Given the description of an element on the screen output the (x, y) to click on. 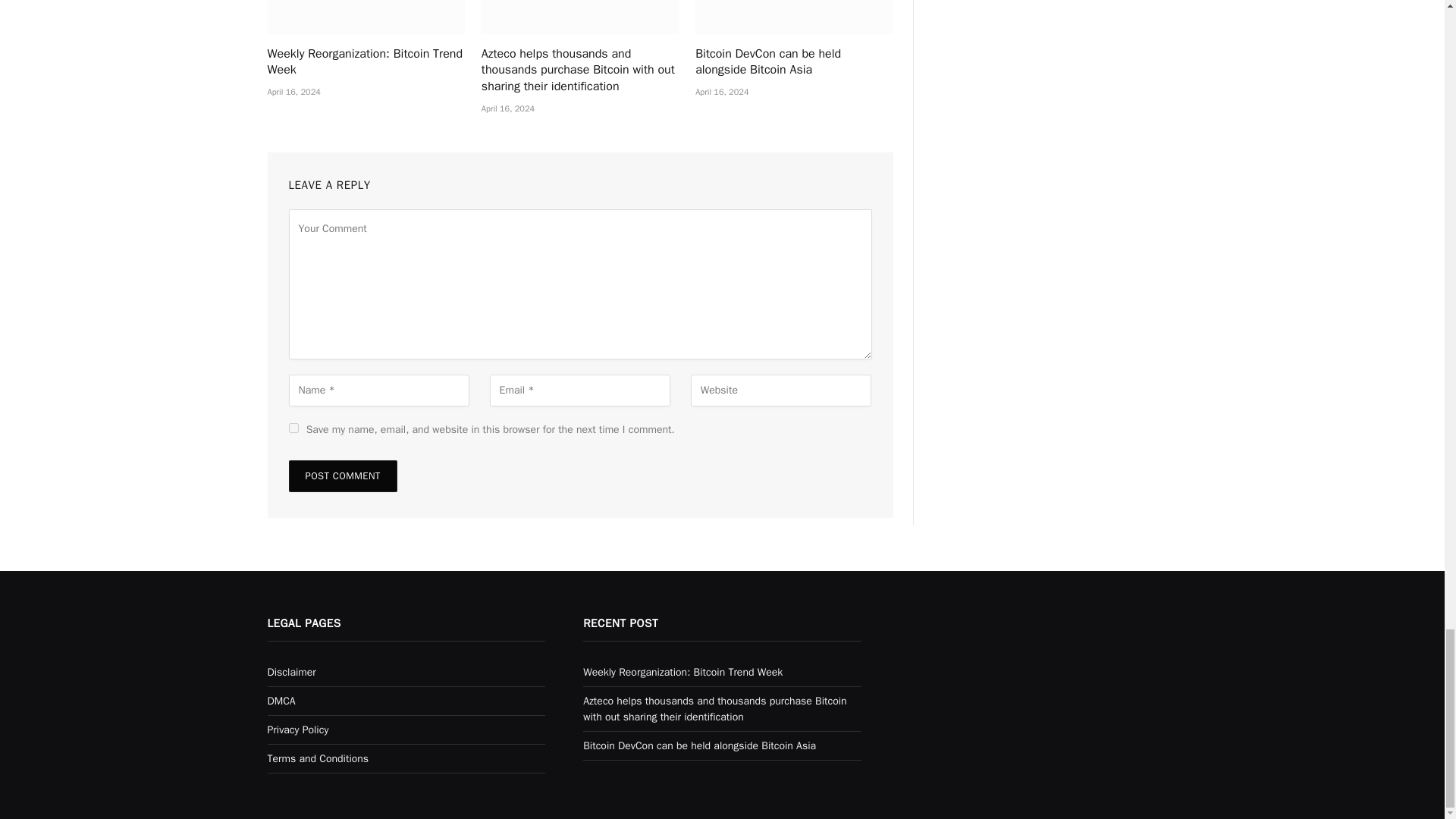
Post Comment (342, 476)
Weekly Reorganization: Bitcoin Trend Week (365, 62)
Bitcoin DevCon can be held alongside Bitcoin Asia (793, 17)
Weekly Reorganization: Bitcoin Trend Week (365, 17)
yes (293, 428)
